Given the description of an element on the screen output the (x, y) to click on. 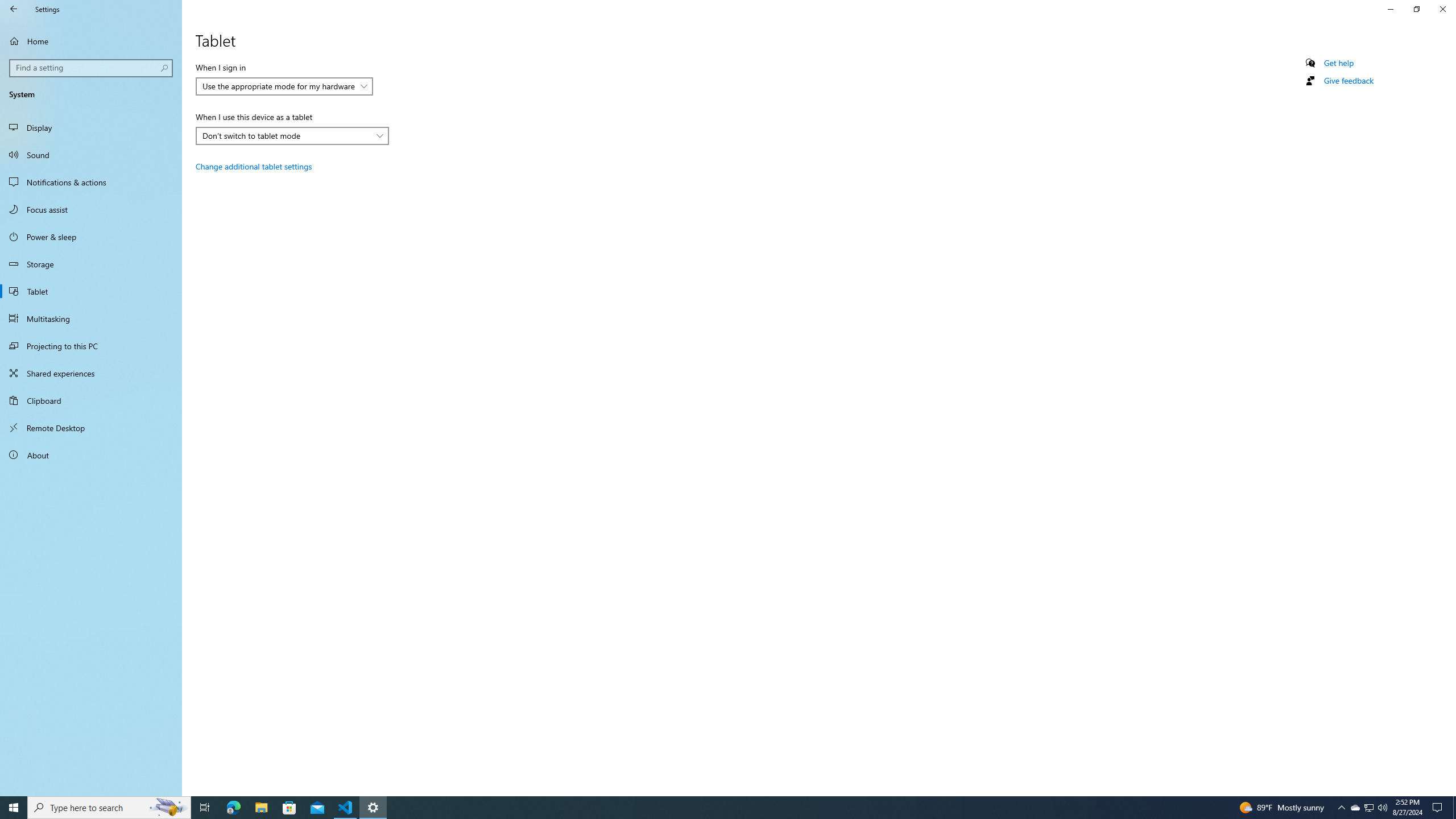
Home (91, 40)
Show desktop (1454, 807)
Settings - 1 running window (373, 807)
Give feedback (1348, 80)
Change additional tablet settings (253, 166)
Sound (91, 154)
Get help (1338, 62)
Storage (91, 263)
Power & sleep (91, 236)
Task View (204, 807)
Search box, Find a setting (91, 67)
Minimize Settings (1368, 807)
Notifications & actions (1390, 9)
